Given the description of an element on the screen output the (x, y) to click on. 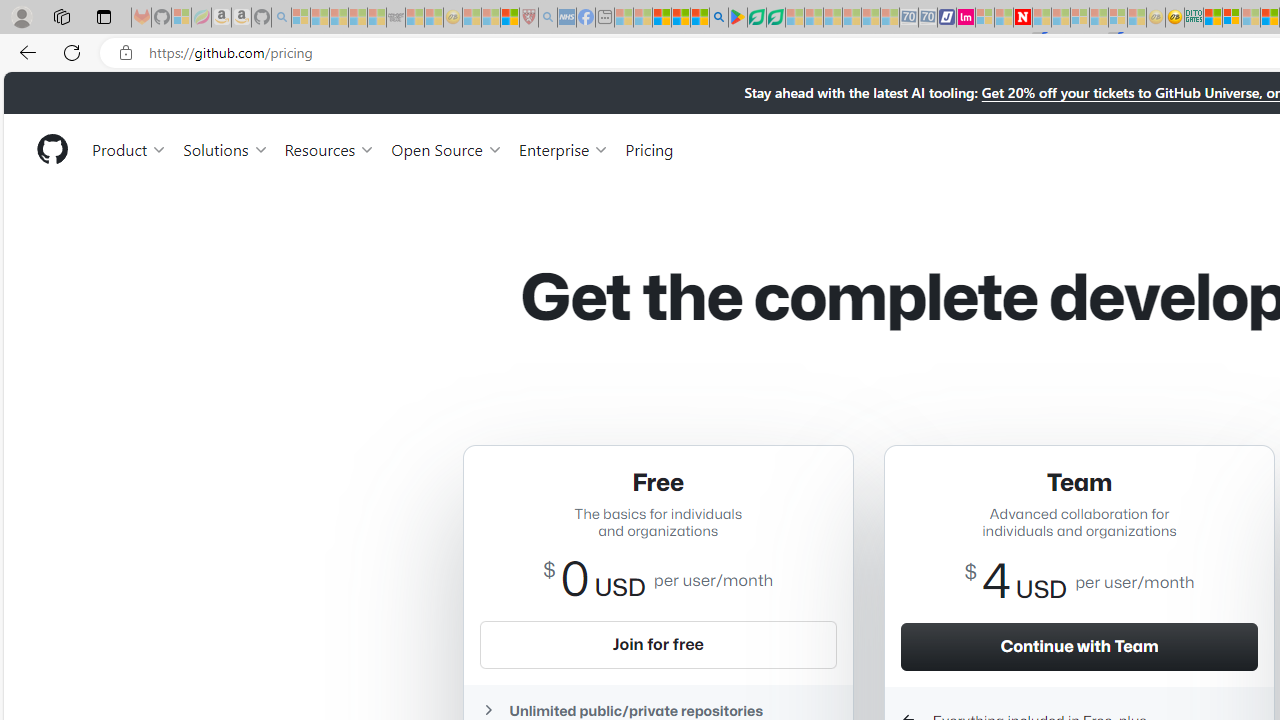
Terms of Use Agreement (756, 17)
Join for free (657, 643)
Product (130, 148)
Local - MSN (509, 17)
